Given the description of an element on the screen output the (x, y) to click on. 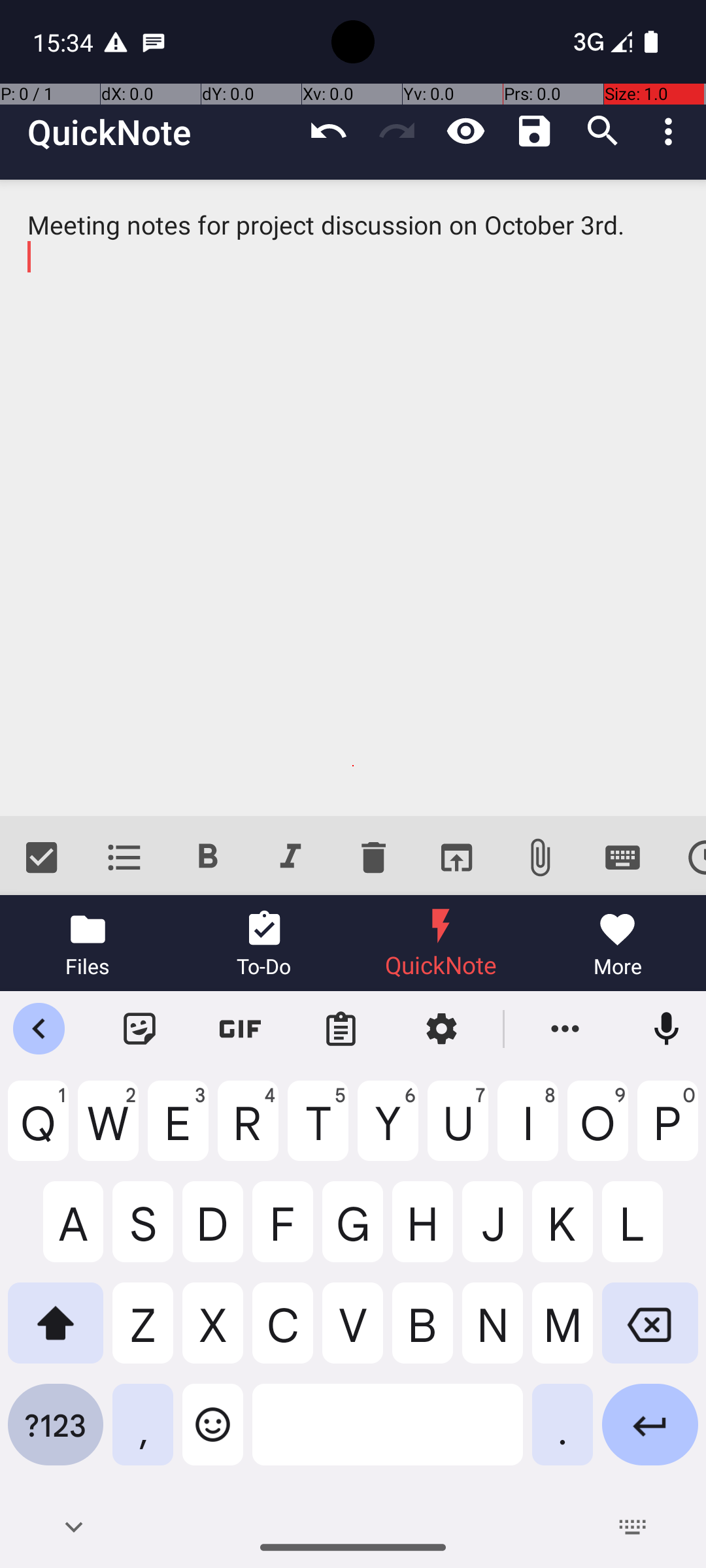
Meeting notes for project discussion on October 3rd.
 Element type: android.widget.EditText (353, 497)
Q Element type: android.widget.FrameLayout (38, 1130)
R Element type: android.widget.FrameLayout (248, 1130)
Y Element type: android.widget.FrameLayout (387, 1130)
U Element type: android.widget.FrameLayout (457, 1130)
I Element type: android.widget.FrameLayout (527, 1130)
O Element type: android.widget.FrameLayout (597, 1130)
P Element type: android.widget.FrameLayout (667, 1130)
G Element type: android.widget.FrameLayout (352, 1231)
H Element type: android.widget.FrameLayout (422, 1231)
J Element type: android.widget.FrameLayout (492, 1231)
K Element type: android.widget.FrameLayout (562, 1231)
L Element type: android.widget.FrameLayout (649, 1231)
Z Element type: android.widget.FrameLayout (142, 1332)
X Element type: android.widget.FrameLayout (212, 1332)
V Element type: android.widget.FrameLayout (352, 1332)
N Element type: android.widget.FrameLayout (492, 1332)
